Given the description of an element on the screen output the (x, y) to click on. 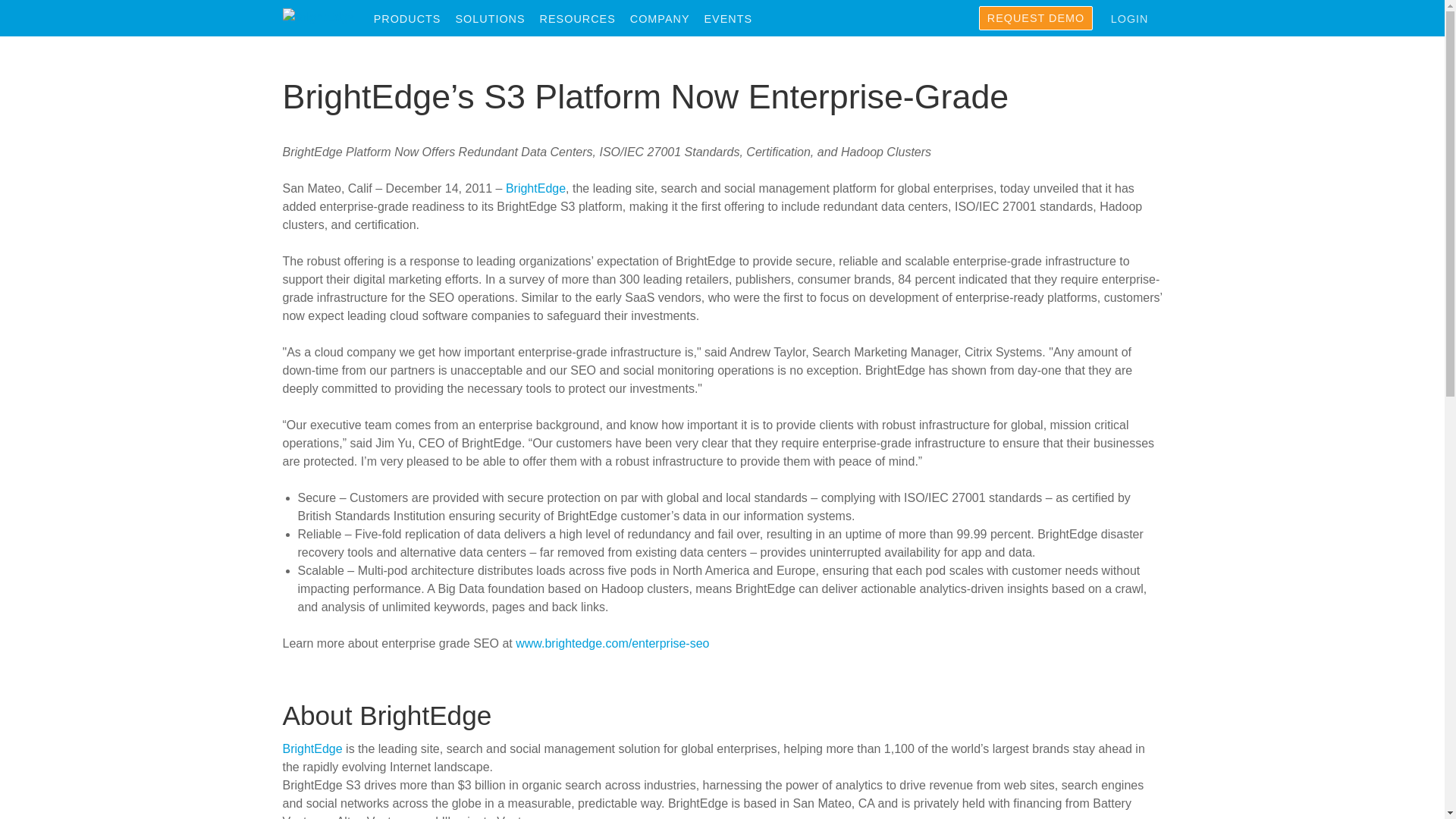
Products (413, 19)
PRODUCTS (413, 19)
RESOURCES (583, 19)
SOLUTIONS (496, 19)
BrightEdge (317, 17)
Resources (583, 19)
